Given the description of an element on the screen output the (x, y) to click on. 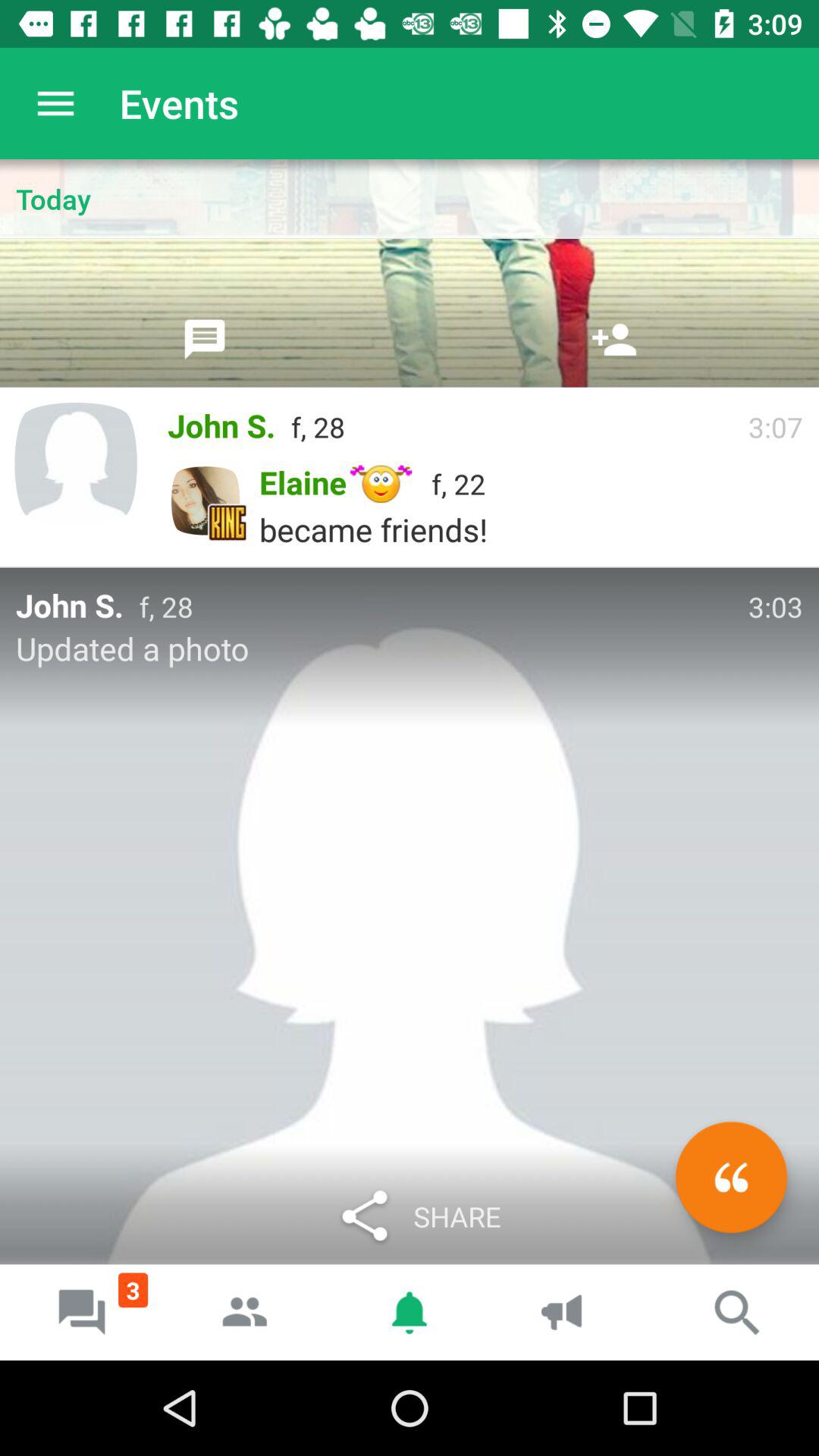
add friend (614, 339)
